Given the description of an element on the screen output the (x, y) to click on. 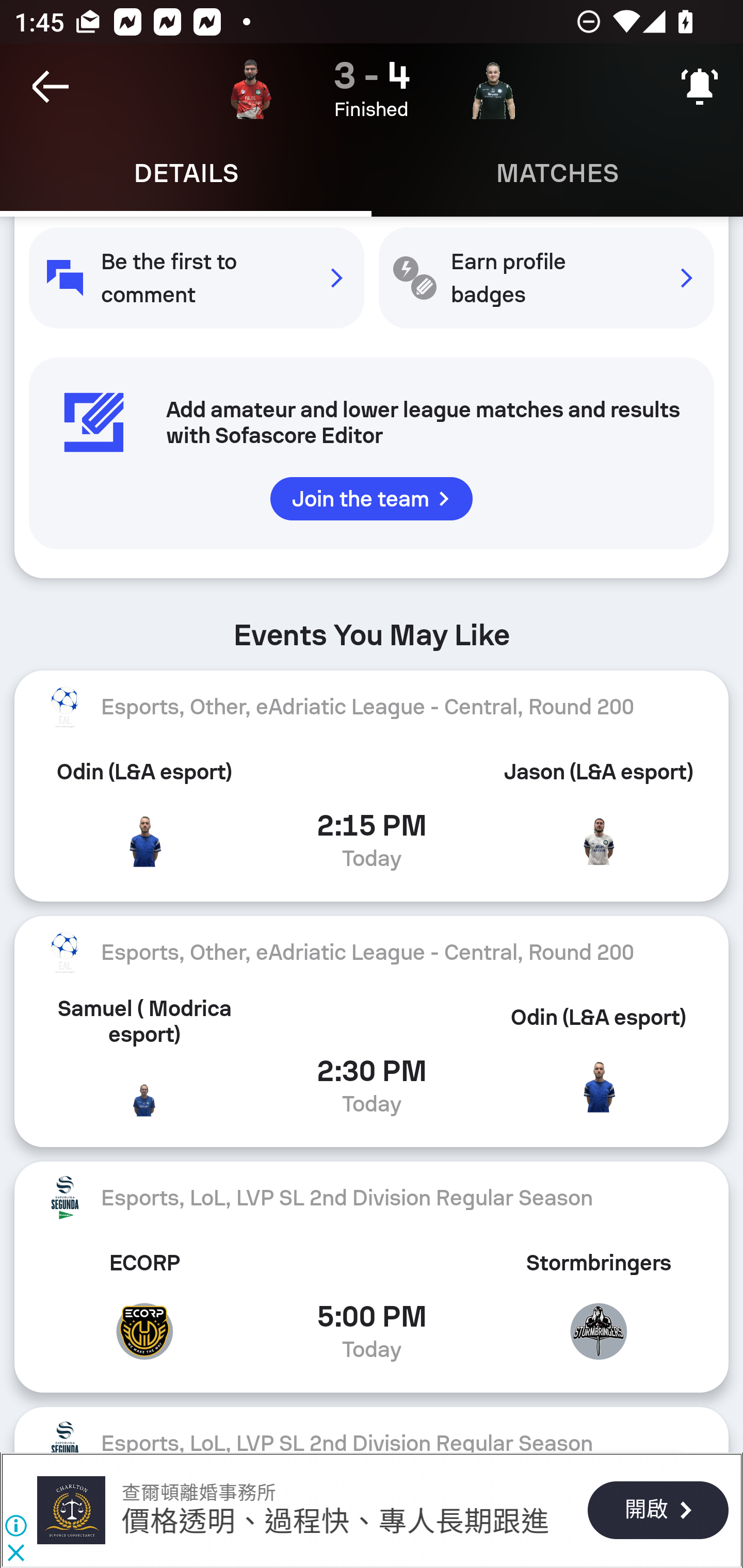
Navigate up (50, 86)
Matches MATCHES (557, 173)
Be the first to comment (196, 278)
Earn profile badges (546, 278)
Join the team (371, 498)
Events You May Like (371, 627)
Esports, LoL, LVP SL 2nd Division Regular Season (371, 1197)
Esports, LoL, LVP SL 2nd Division Regular Season (371, 1428)
查爾頓離婚事務所 (71, 1509)
查爾頓離婚事務所 (197, 1493)
開啟 (657, 1511)
價格透明、過程快、專人長期跟進 (335, 1523)
